Given the description of an element on the screen output the (x, y) to click on. 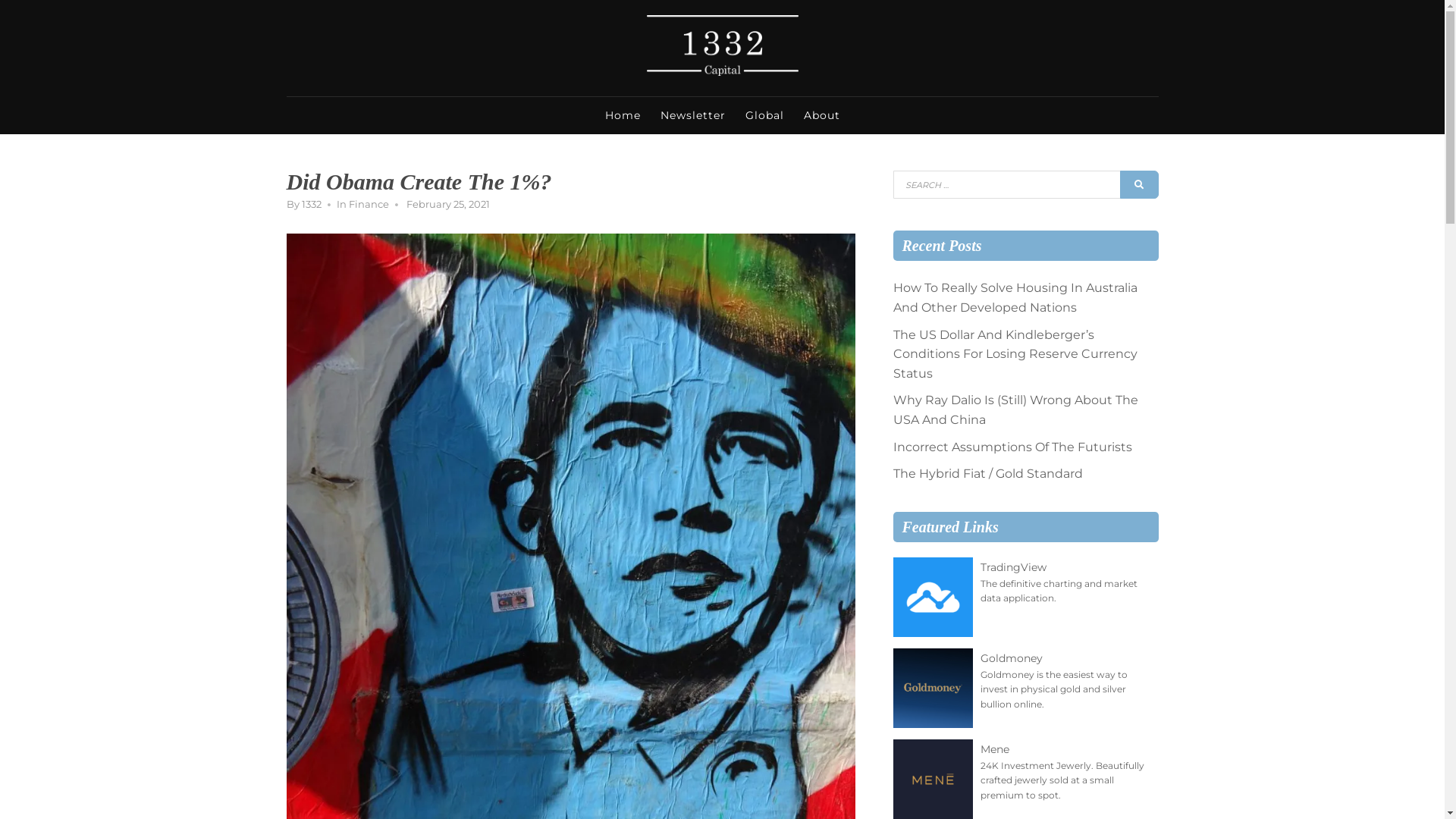
Newsletter Element type: text (693, 115)
Why Ray Dalio Is (Still) Wrong About The USA And China Element type: text (1015, 409)
Finance Element type: text (368, 203)
Home Element type: text (622, 115)
The Hybrid Fiat / Gold Standard Element type: text (987, 473)
Global Element type: text (764, 115)
Incorrect Assumptions Of The Futurists Element type: text (1012, 446)
1332 Element type: text (311, 203)
February 25, 2021 Element type: text (447, 203)
SEARCH Element type: text (1138, 184)
About Element type: text (820, 115)
